Given the description of an element on the screen output the (x, y) to click on. 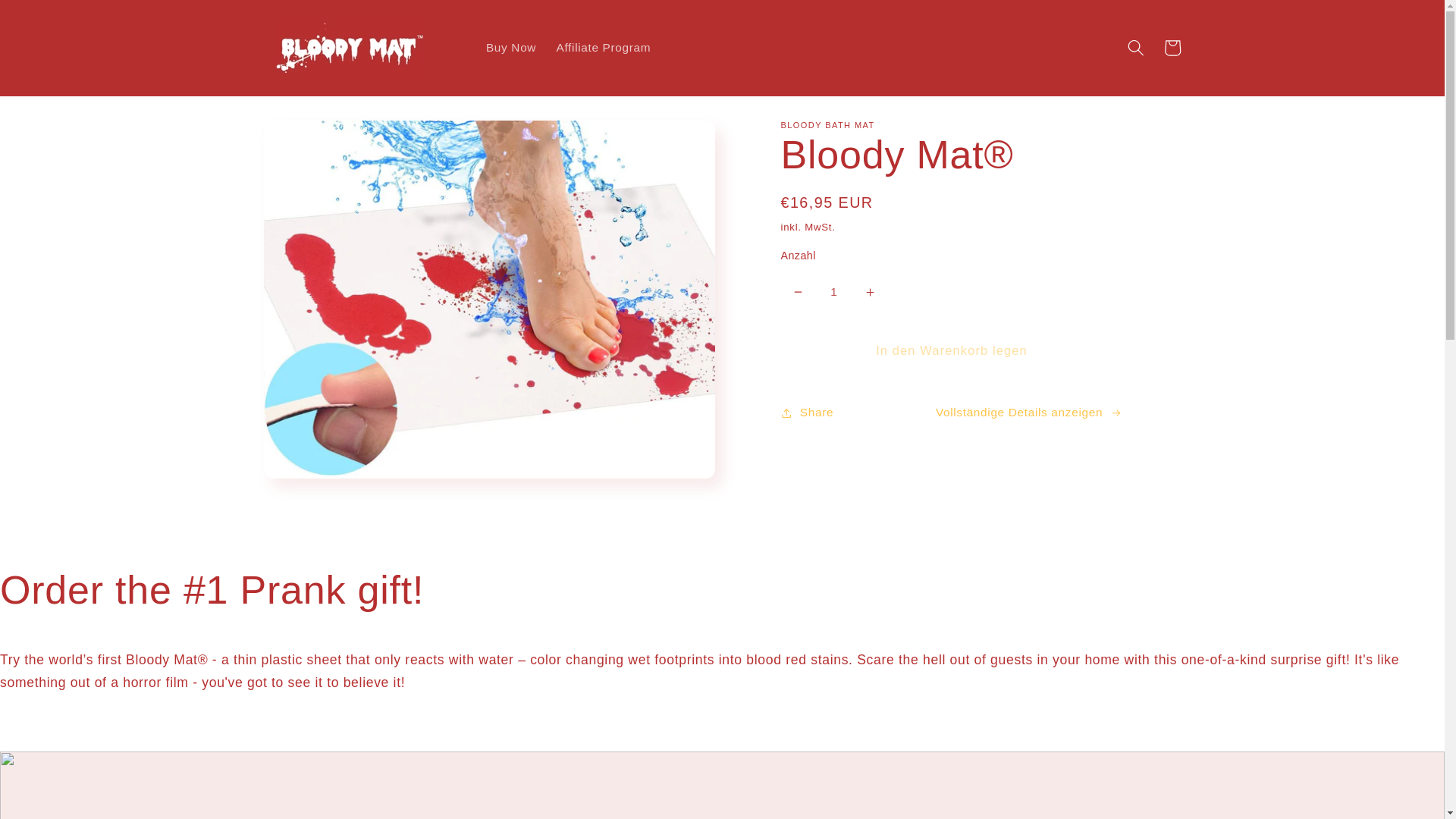
1 (832, 292)
Affiliate Program (603, 47)
Direkt zum Inhalt (49, 18)
Zu Produktinformationen springen (312, 138)
Buy Now (511, 47)
In den Warenkorb legen (951, 351)
Warenkorb (1172, 47)
